Given the description of an element on the screen output the (x, y) to click on. 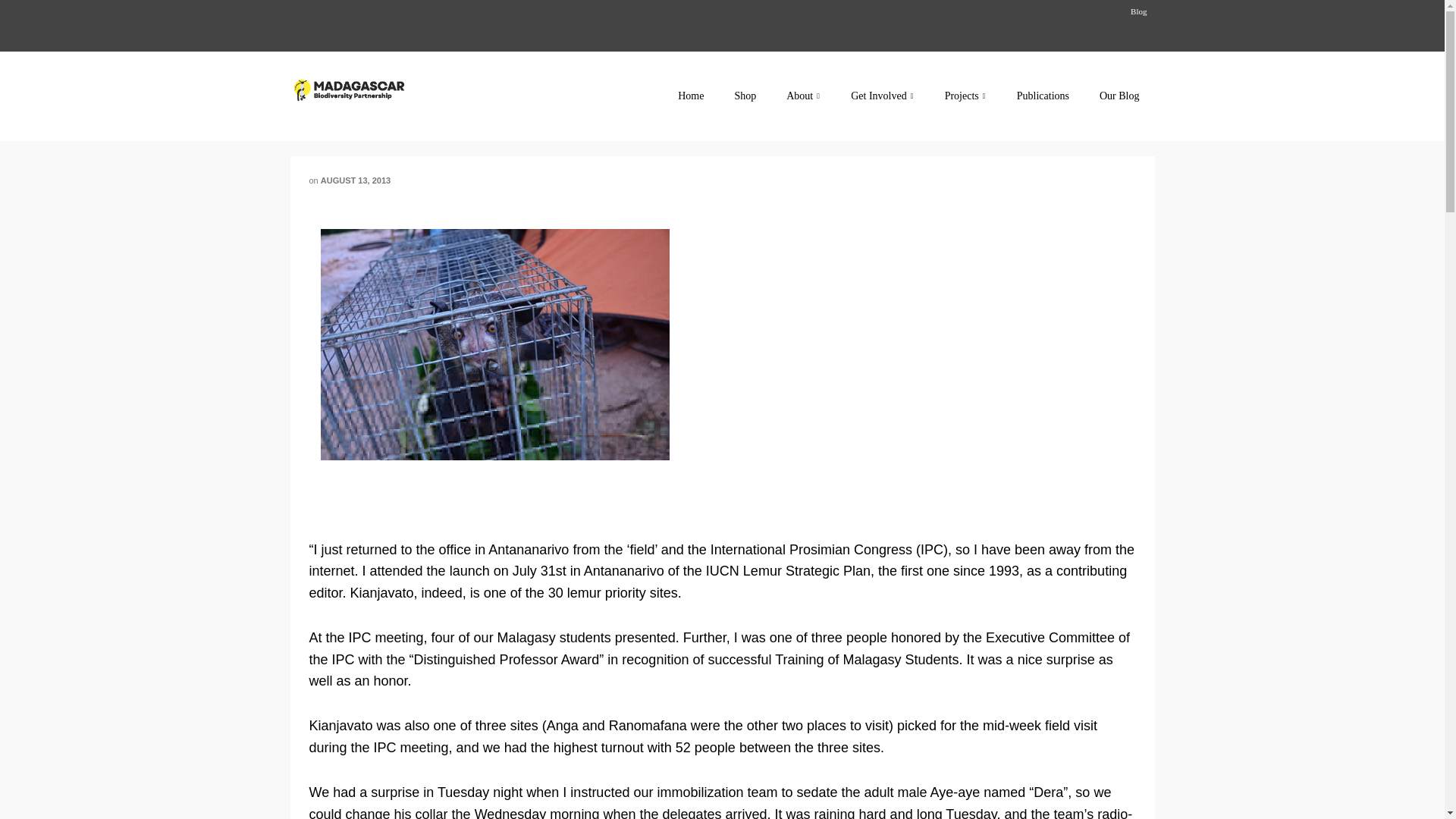
Get Involved (881, 95)
Blog (1138, 11)
Publications (1042, 95)
